Given the description of an element on the screen output the (x, y) to click on. 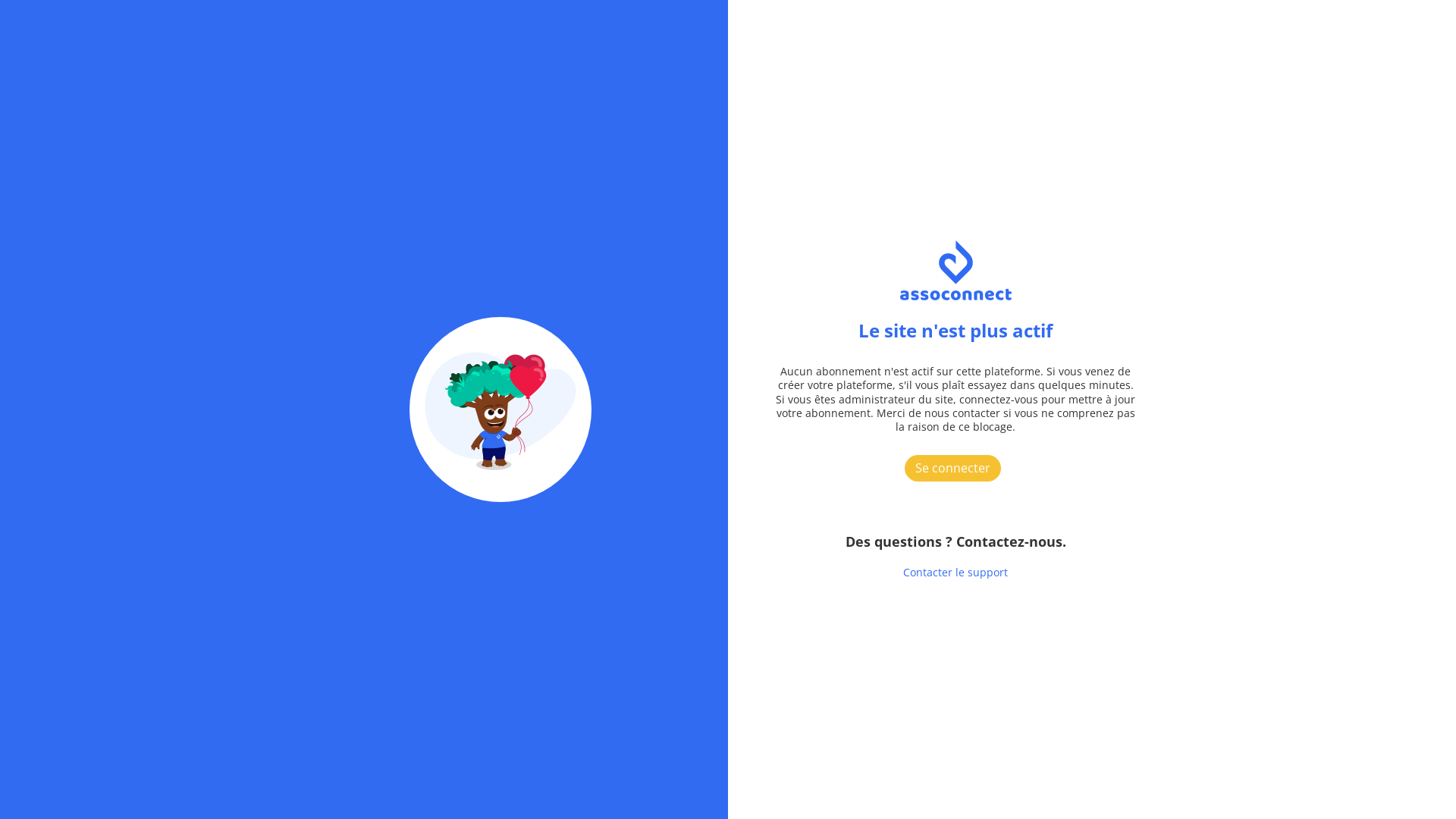
Se connecter Element type: text (954, 466)
Contacter le support Element type: text (955, 571)
